Given the description of an element on the screen output the (x, y) to click on. 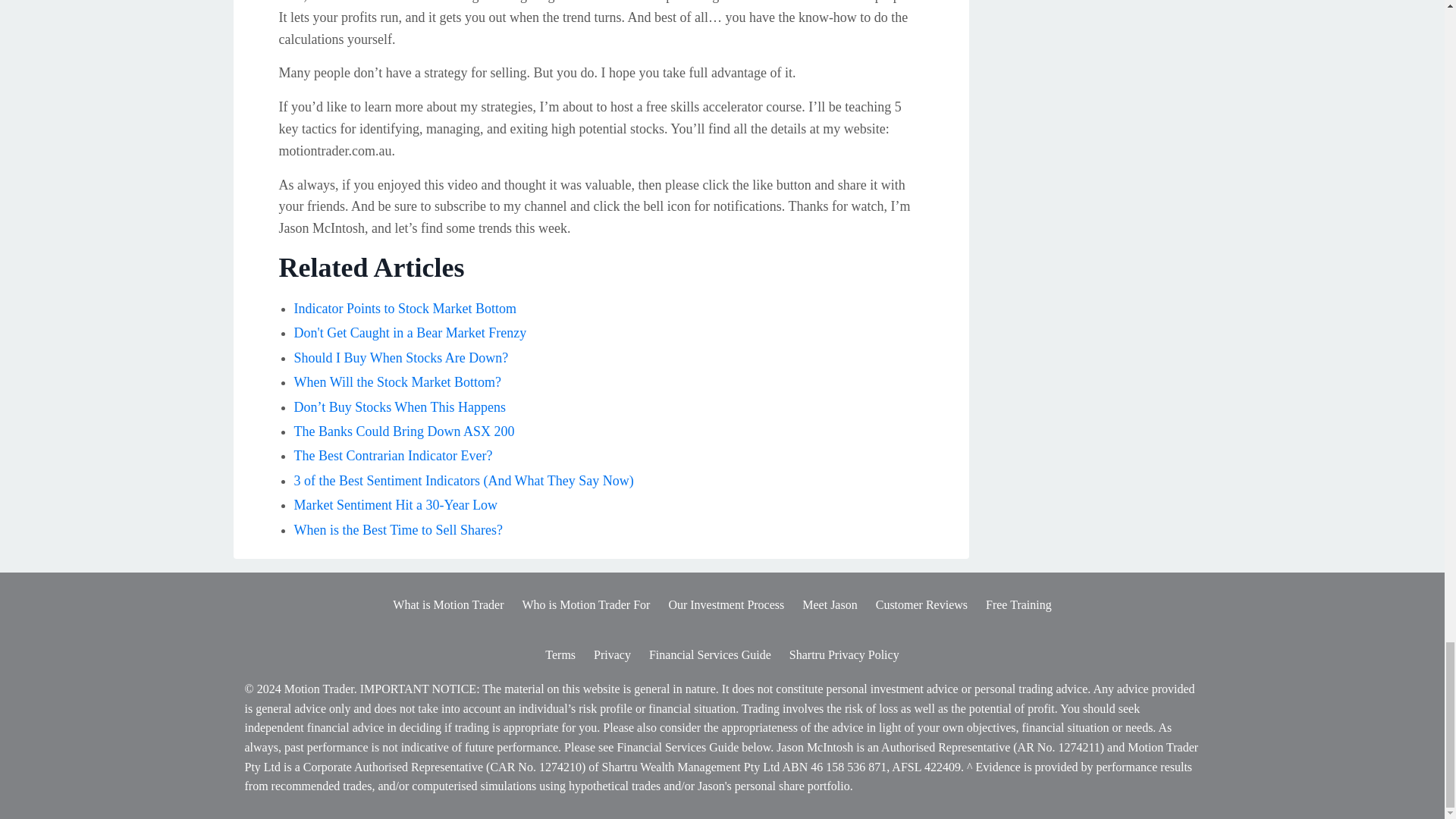
Market Sentiment Hit a 30-Year Low (395, 504)
Indicator Points to Stock Market Bottom (405, 308)
The Best Contrarian Indicator Ever? (393, 455)
Don't Get Caught in a Bear Market Frenzy (410, 332)
When Will the Stock Market Bottom? (397, 381)
The Banks Could Bring Down ASX 200 (404, 431)
Who is Motion Trader For (585, 604)
What is Motion Trader (448, 604)
When is the Best Time to Sell Shares? (398, 529)
Should I Buy When Stocks Are Down? (401, 357)
